Given the description of an element on the screen output the (x, y) to click on. 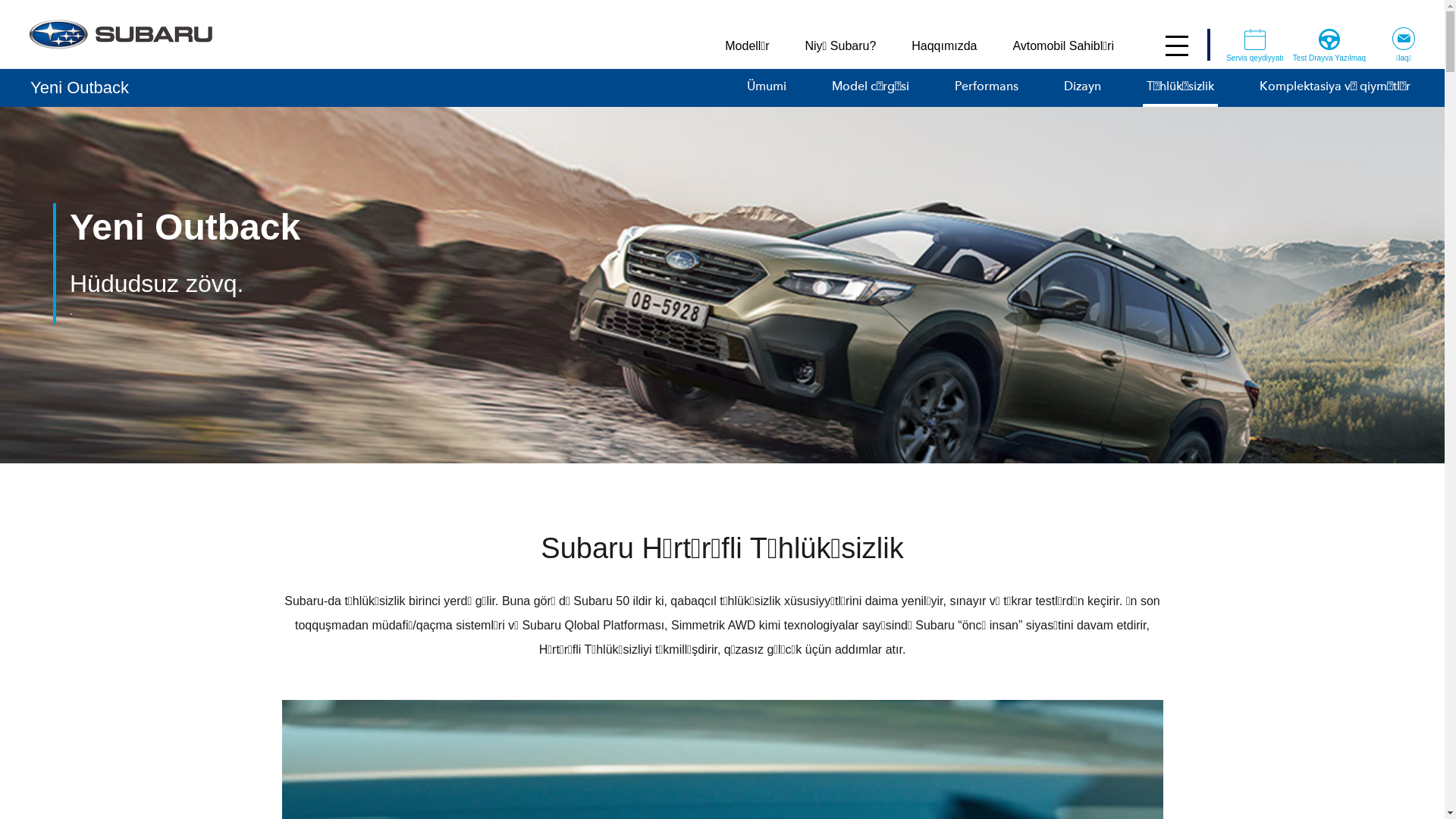
Performans Element type: text (986, 87)
Dizayn Element type: text (1082, 87)
